Given the description of an element on the screen output the (x, y) to click on. 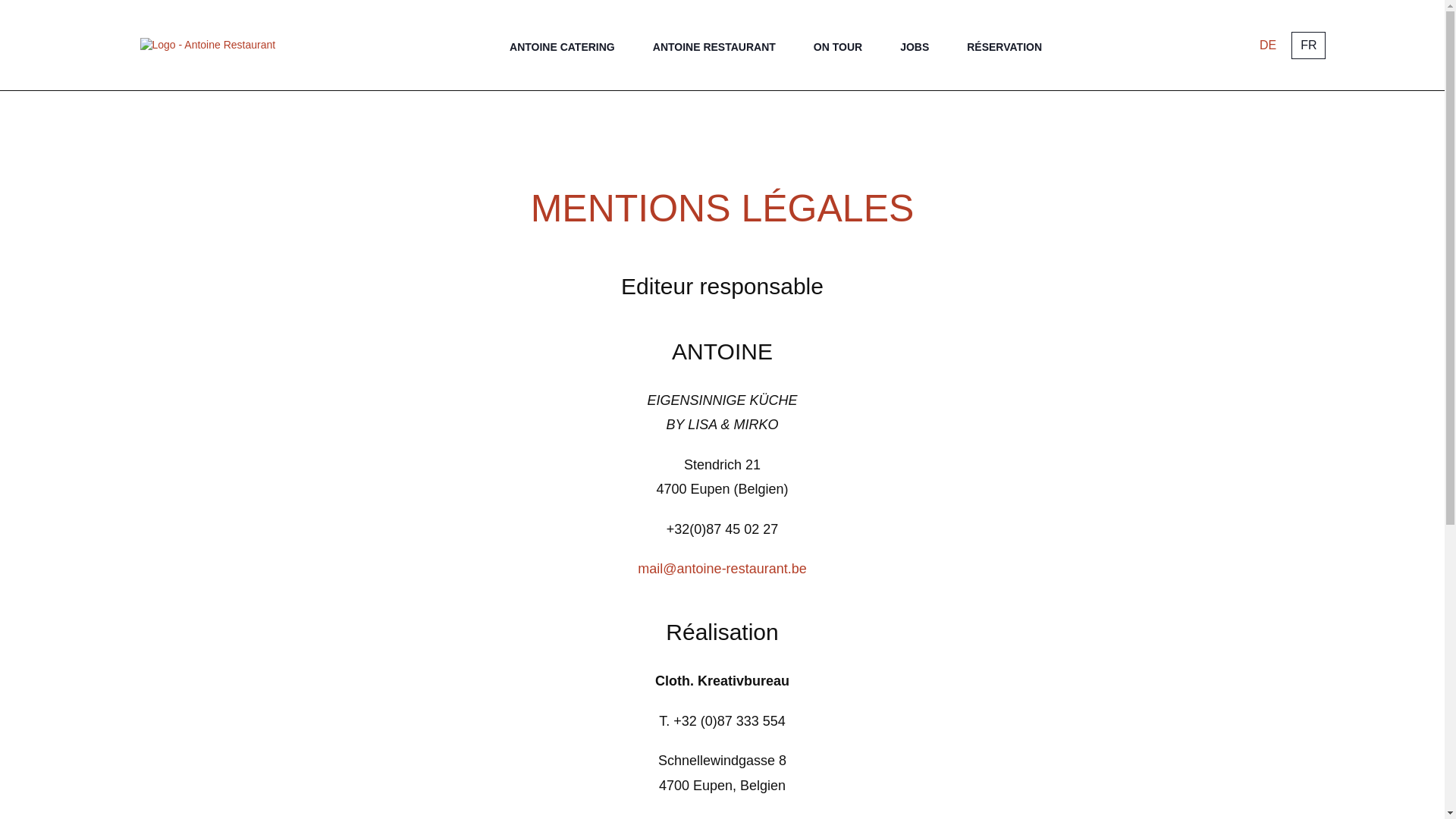
mail@antoine-restaurant.be Element type: text (721, 568)
ON TOUR Element type: text (837, 47)
FR Element type: text (1308, 45)
ANTOINE RESTAURANT Element type: text (713, 47)
JOBS Element type: text (914, 47)
ANTOINE CATERING Element type: text (562, 47)
DE Element type: text (1267, 45)
